Given the description of an element on the screen output the (x, y) to click on. 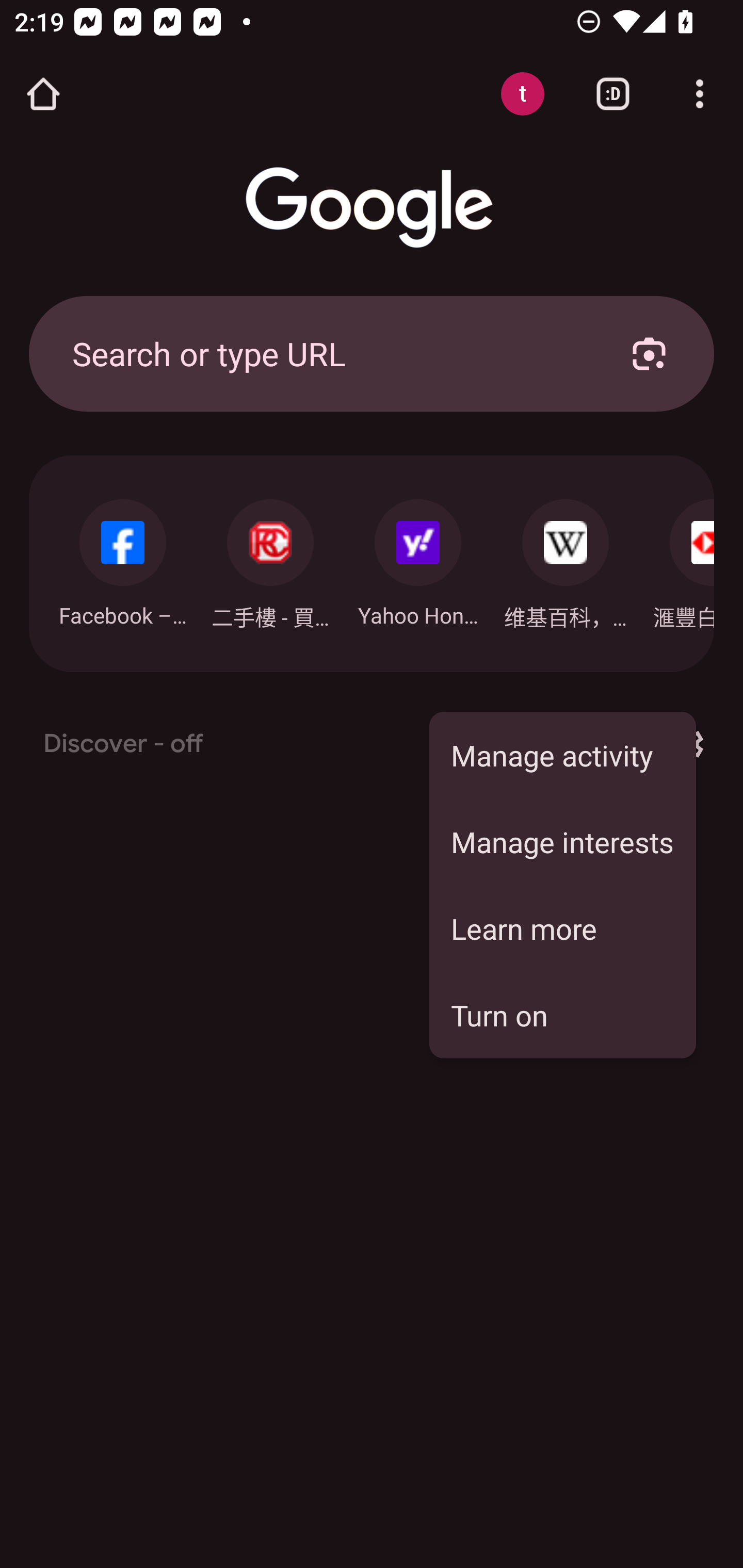
Manage activity (562, 754)
Manage interests (562, 841)
Learn more (562, 928)
Turn on (562, 1015)
